Given the description of an element on the screen output the (x, y) to click on. 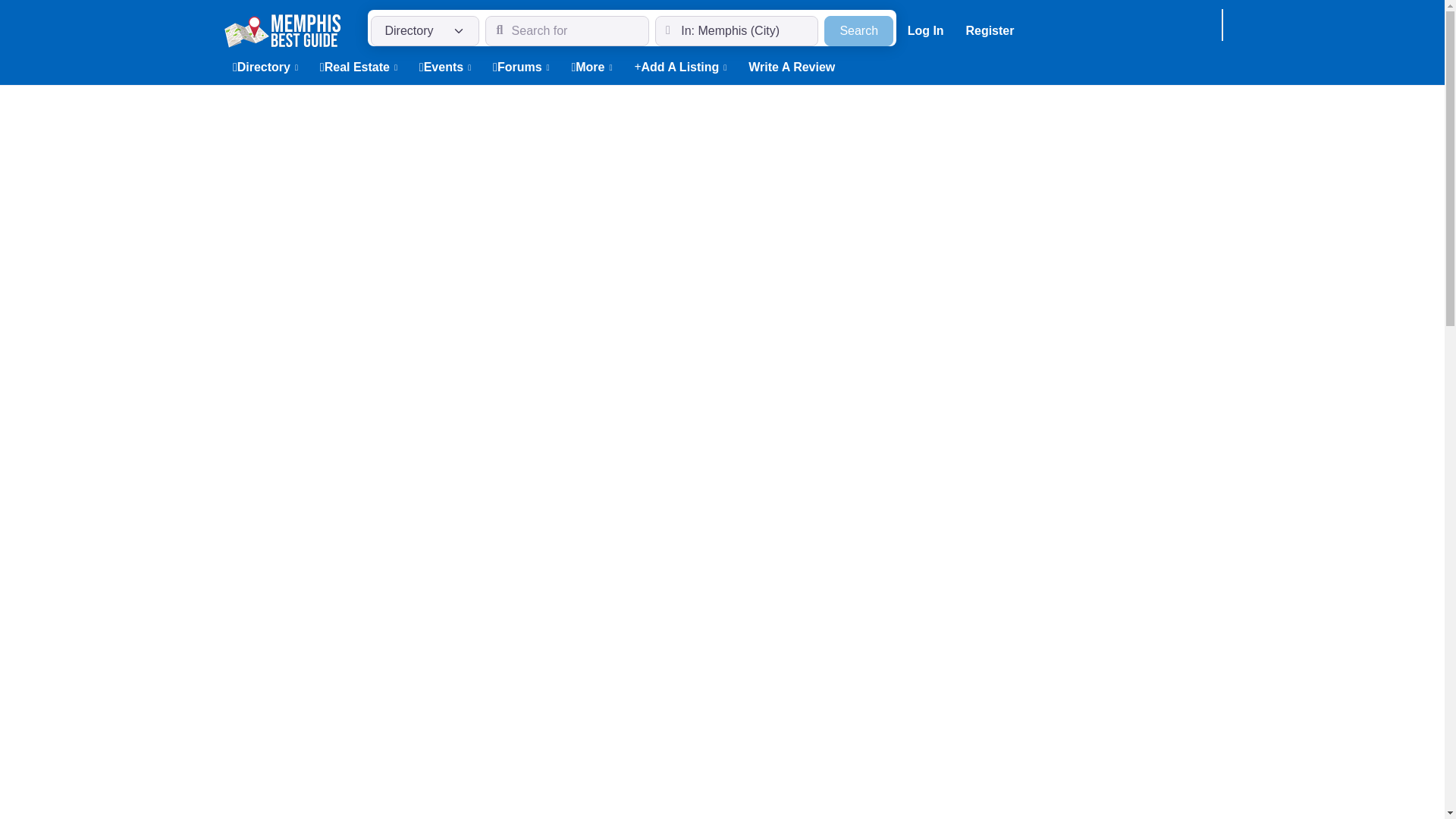
Log In (925, 30)
Forums (520, 67)
Real Estate (357, 67)
Memphis Best Guide (281, 29)
More (591, 67)
Directory (264, 67)
Register (990, 30)
Events (858, 30)
